Given the description of an element on the screen output the (x, y) to click on. 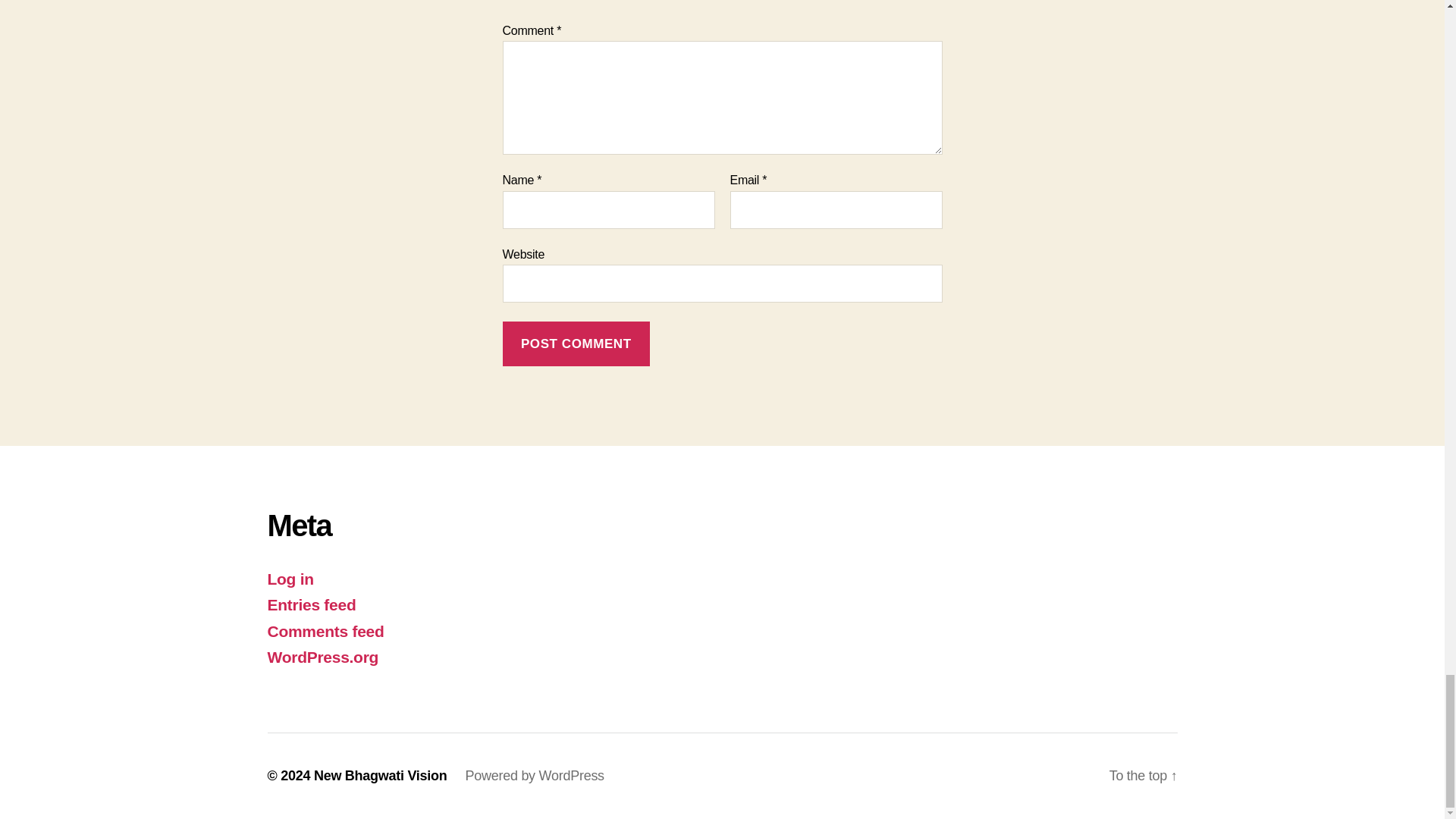
Post Comment (575, 343)
